Given the description of an element on the screen output the (x, y) to click on. 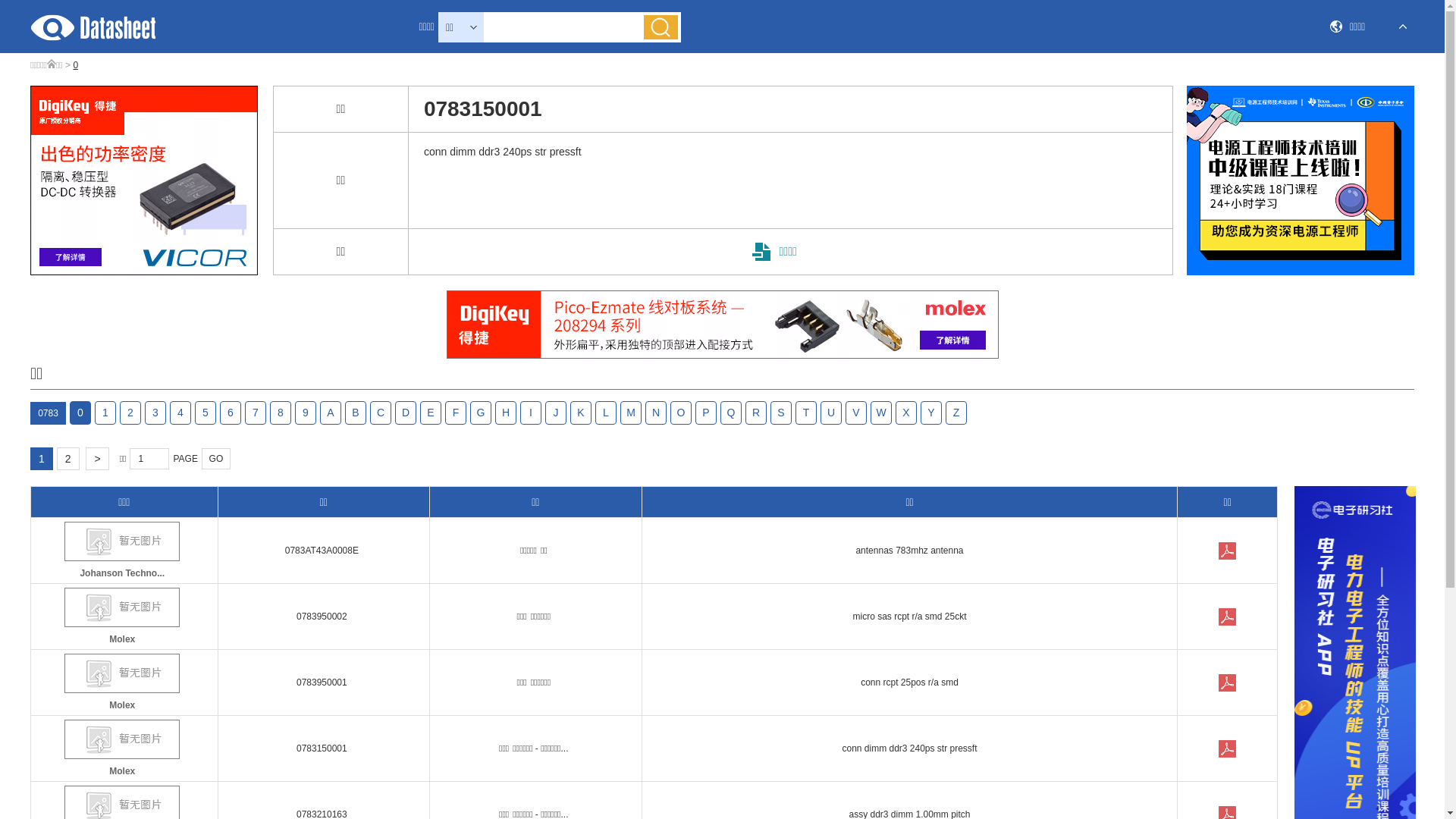
0783150001 Element type: text (321, 748)
0 Element type: text (80, 412)
T Element type: text (805, 412)
O Element type: text (680, 412)
H Element type: text (505, 412)
0783950002 Element type: text (321, 616)
X Element type: text (905, 412)
V Element type: text (855, 412)
7 Element type: text (255, 412)
B Element type: text (355, 412)
U Element type: text (830, 412)
Q Element type: text (730, 412)
6 Element type: text (230, 412)
Johanson Techno... Element type: text (122, 552)
GO Element type: text (215, 458)
C Element type: text (380, 412)
M Element type: text (630, 412)
3rd party ad content Element type: hover (143, 180)
E Element type: text (430, 412)
0783AT43A0008E Element type: text (321, 550)
4 Element type: text (180, 412)
2 Element type: text (130, 412)
J Element type: text (555, 412)
R Element type: text (755, 412)
1 Element type: text (105, 412)
F Element type: text (455, 412)
A Element type: text (330, 412)
0783950001 Element type: text (321, 682)
W Element type: text (880, 412)
G Element type: text (480, 412)
Molex Element type: text (122, 618)
3 Element type: text (155, 412)
9 Element type: text (305, 412)
0783950002 Element type: hover (1227, 617)
0783AT43A0008E Element type: hover (1227, 551)
D Element type: text (405, 412)
P Element type: text (705, 412)
L Element type: text (605, 412)
I Element type: text (530, 412)
Molex Element type: text (122, 684)
K Element type: text (580, 412)
8 Element type: text (280, 412)
> Element type: text (96, 458)
N Element type: text (655, 412)
3rd party ad content Element type: hover (721, 324)
Y Element type: text (930, 412)
0783150001 Element type: hover (1227, 749)
S Element type: text (780, 412)
Z Element type: text (955, 412)
0783950001 Element type: hover (1227, 683)
5 Element type: text (205, 412)
Molex Element type: text (122, 750)
2 Element type: text (67, 458)
